Given the description of an element on the screen output the (x, y) to click on. 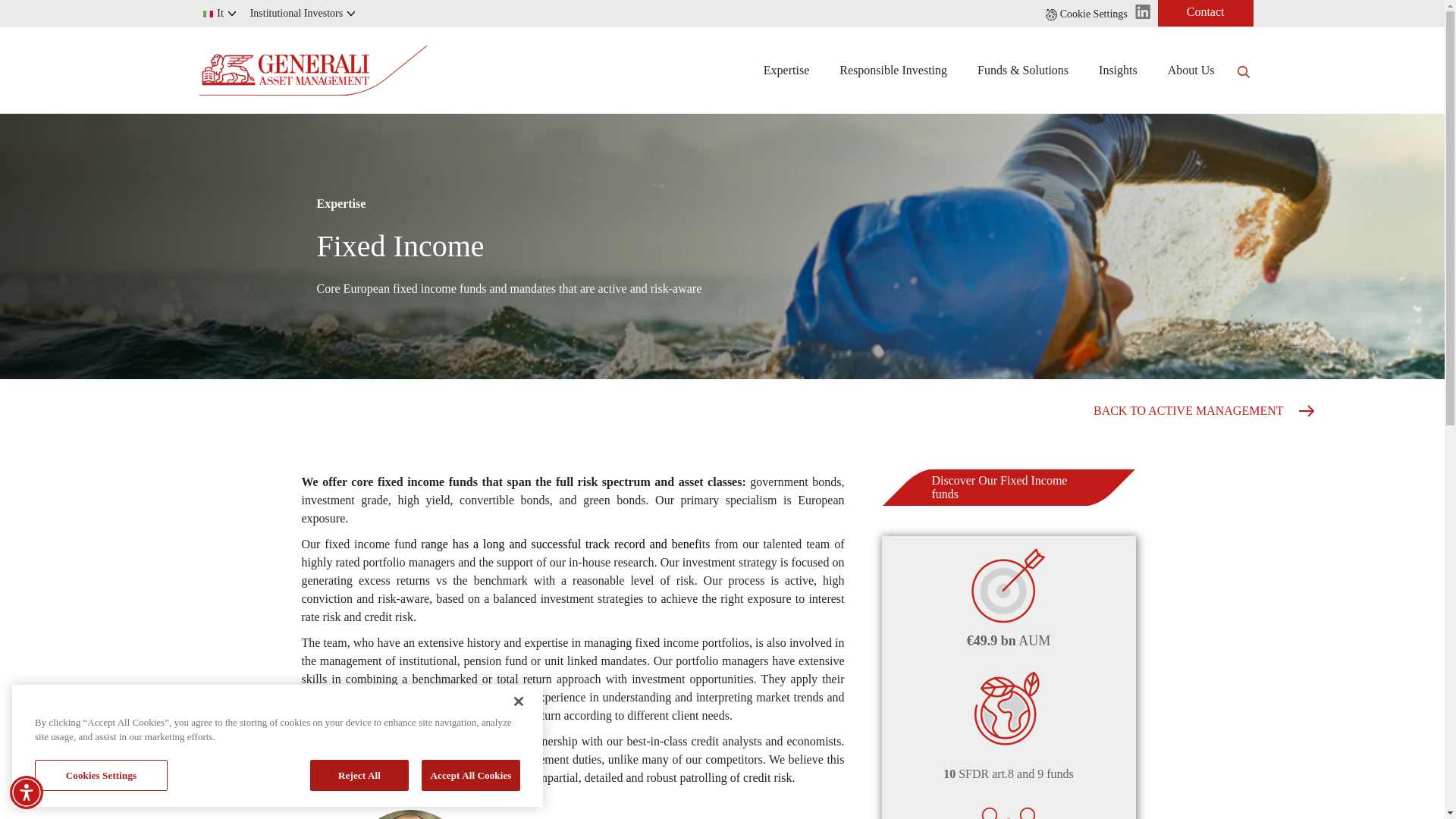
About Us (1191, 70)
Accessibility Menu (26, 792)
Responsible Investing (893, 70)
Contact (1205, 13)
